Given the description of an element on the screen output the (x, y) to click on. 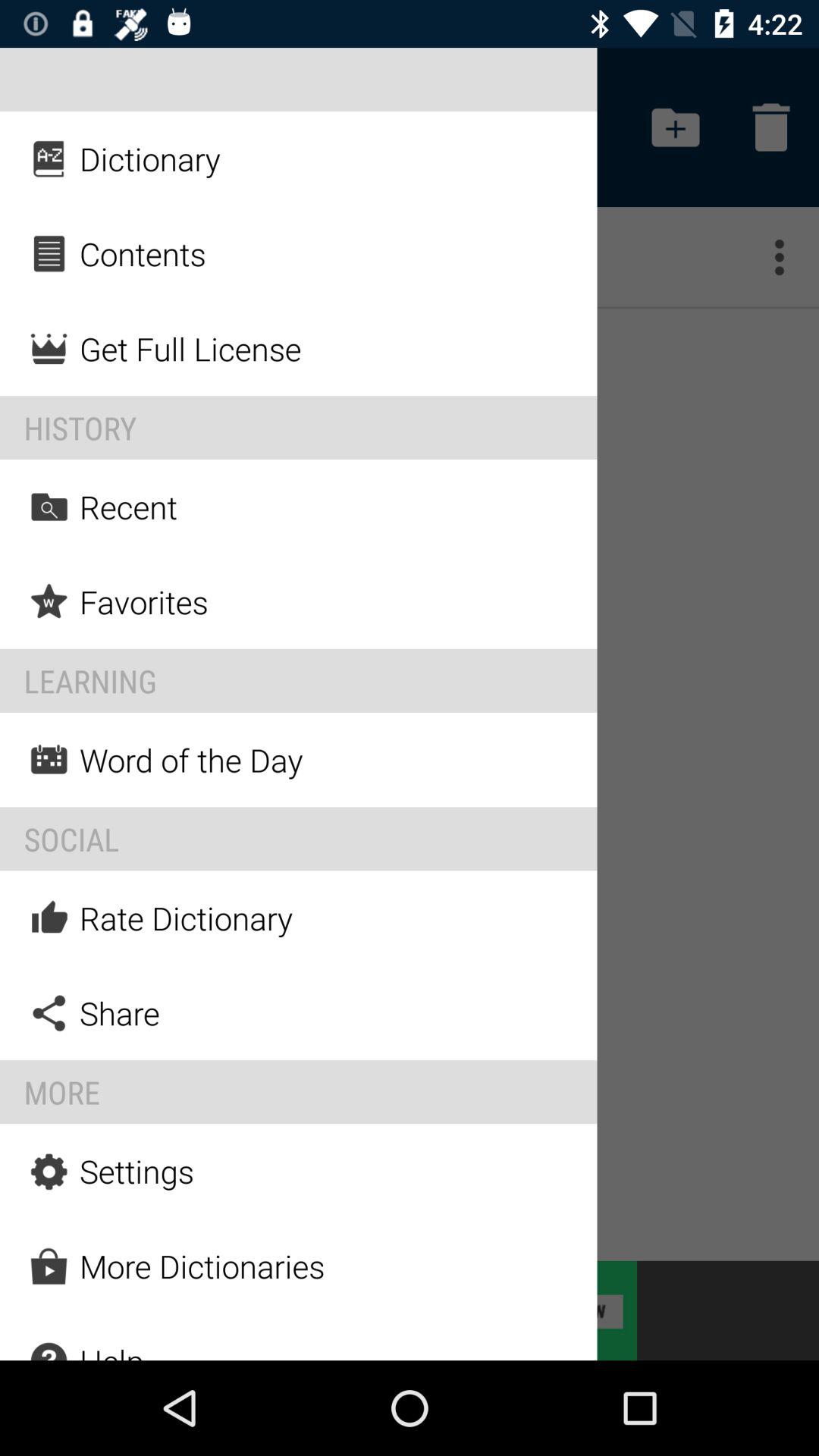
click the button on the top right corner of the web page (771, 127)
click on button under delete (789, 255)
select the favorites icon on the web page (49, 600)
select the last second icon from the bottom of the page (49, 1265)
